Given the description of an element on the screen output the (x, y) to click on. 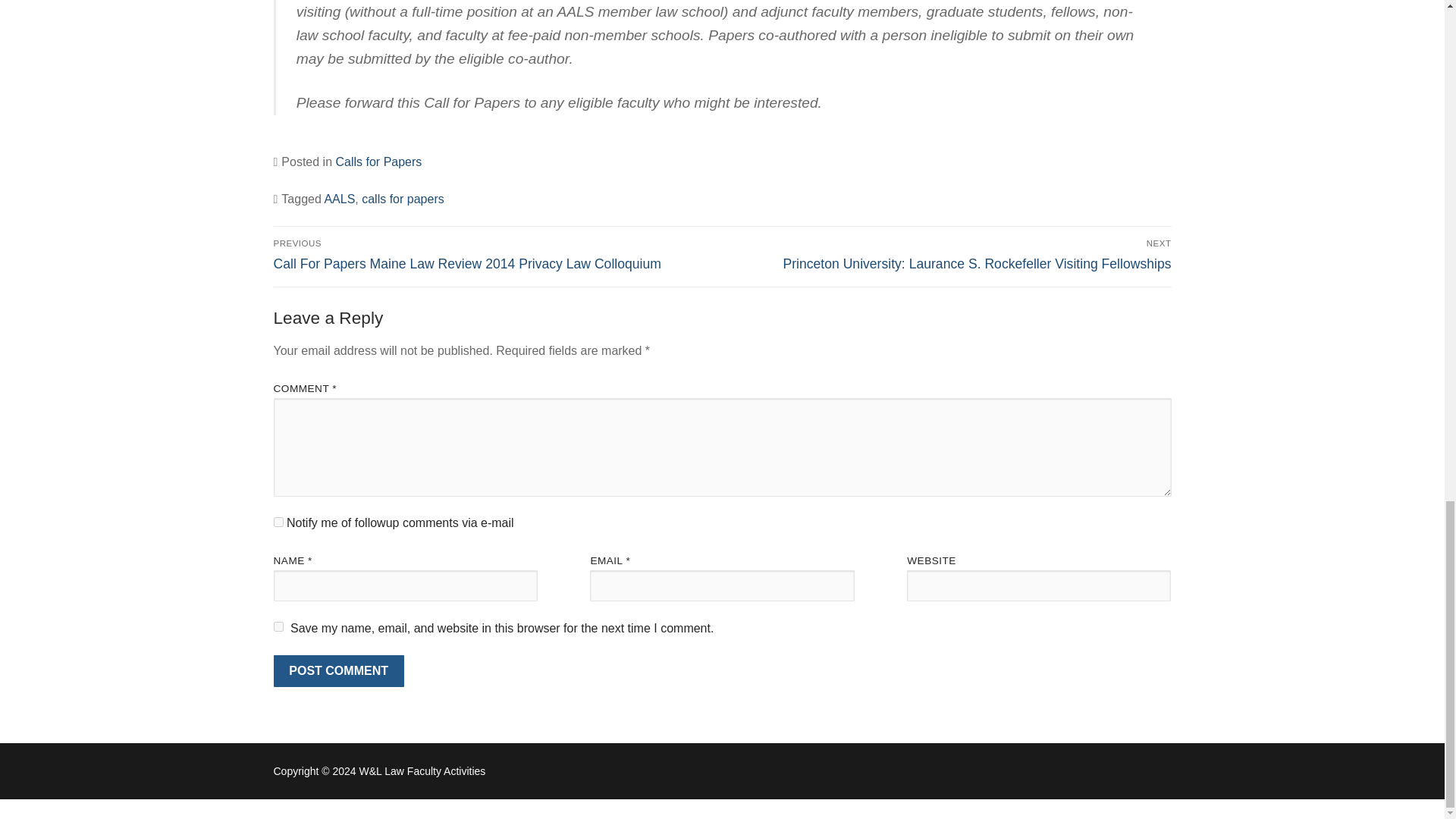
Calls for Papers (378, 161)
calls for papers (402, 198)
Post Comment (338, 671)
AALS (339, 198)
yes (277, 626)
subscribe (277, 521)
Post Comment (338, 671)
